Given the description of an element on the screen output the (x, y) to click on. 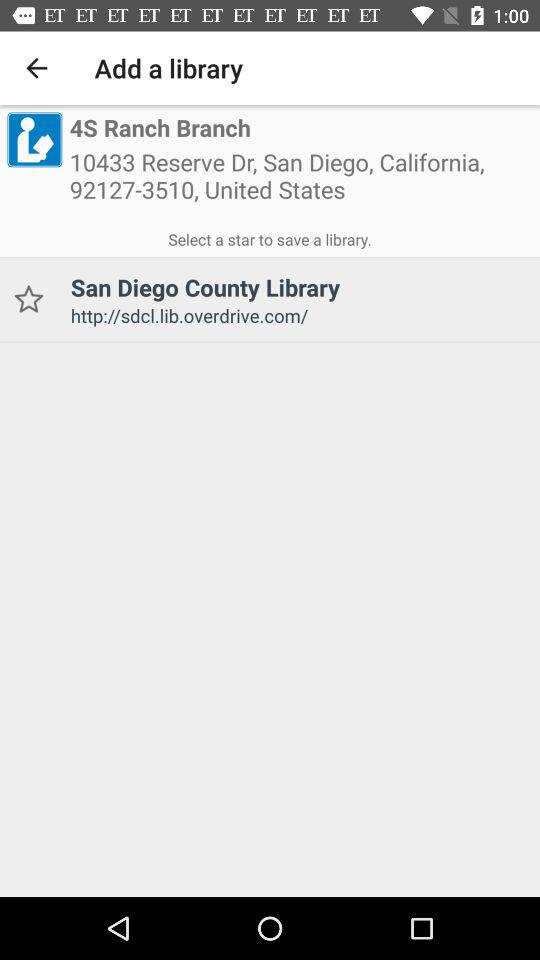
tap icon next to the san diego county (28, 299)
